Given the description of an element on the screen output the (x, y) to click on. 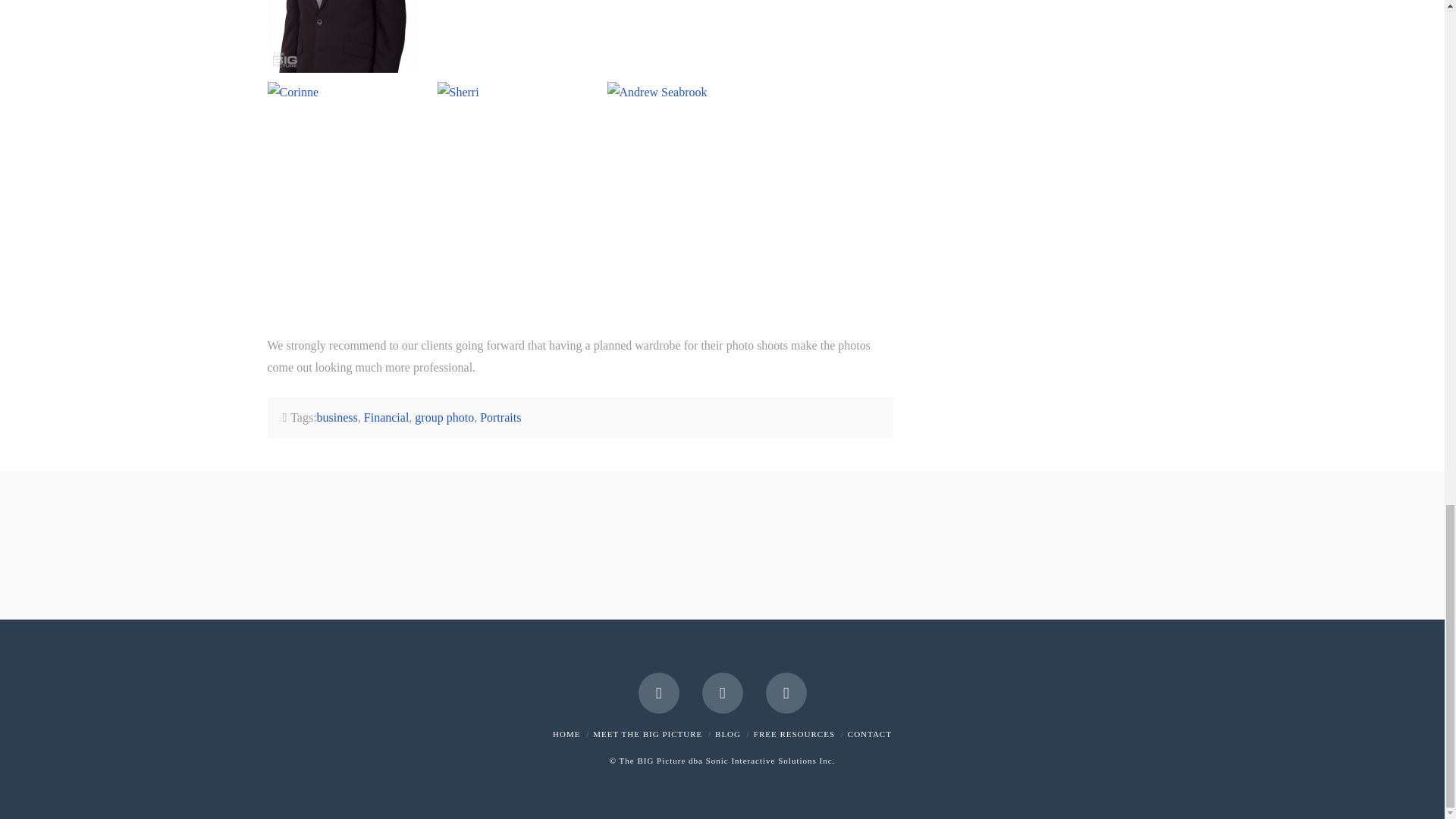
group photo (444, 417)
Instagram (785, 692)
Financial (386, 417)
MEET THE BIG PICTURE (646, 733)
YouTube (721, 692)
Portraits (500, 417)
business (337, 417)
HOME (566, 733)
Facebook (659, 692)
